Given the description of an element on the screen output the (x, y) to click on. 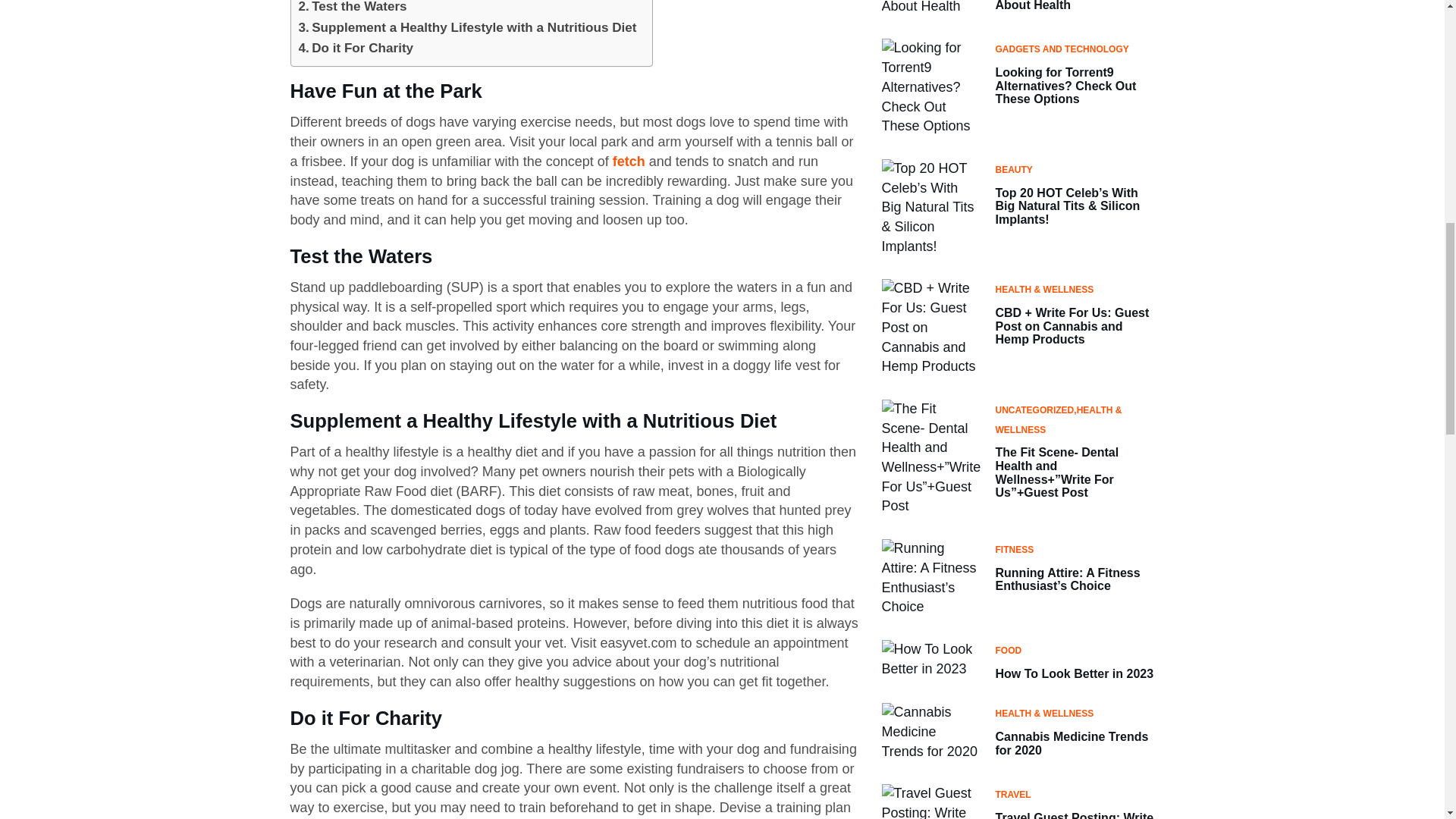
Test the Waters (352, 8)
Do it For Charity (355, 47)
fetch (628, 160)
Supplement a Healthy Lifestyle with a Nutritious Diet (467, 27)
